Given the description of an element on the screen output the (x, y) to click on. 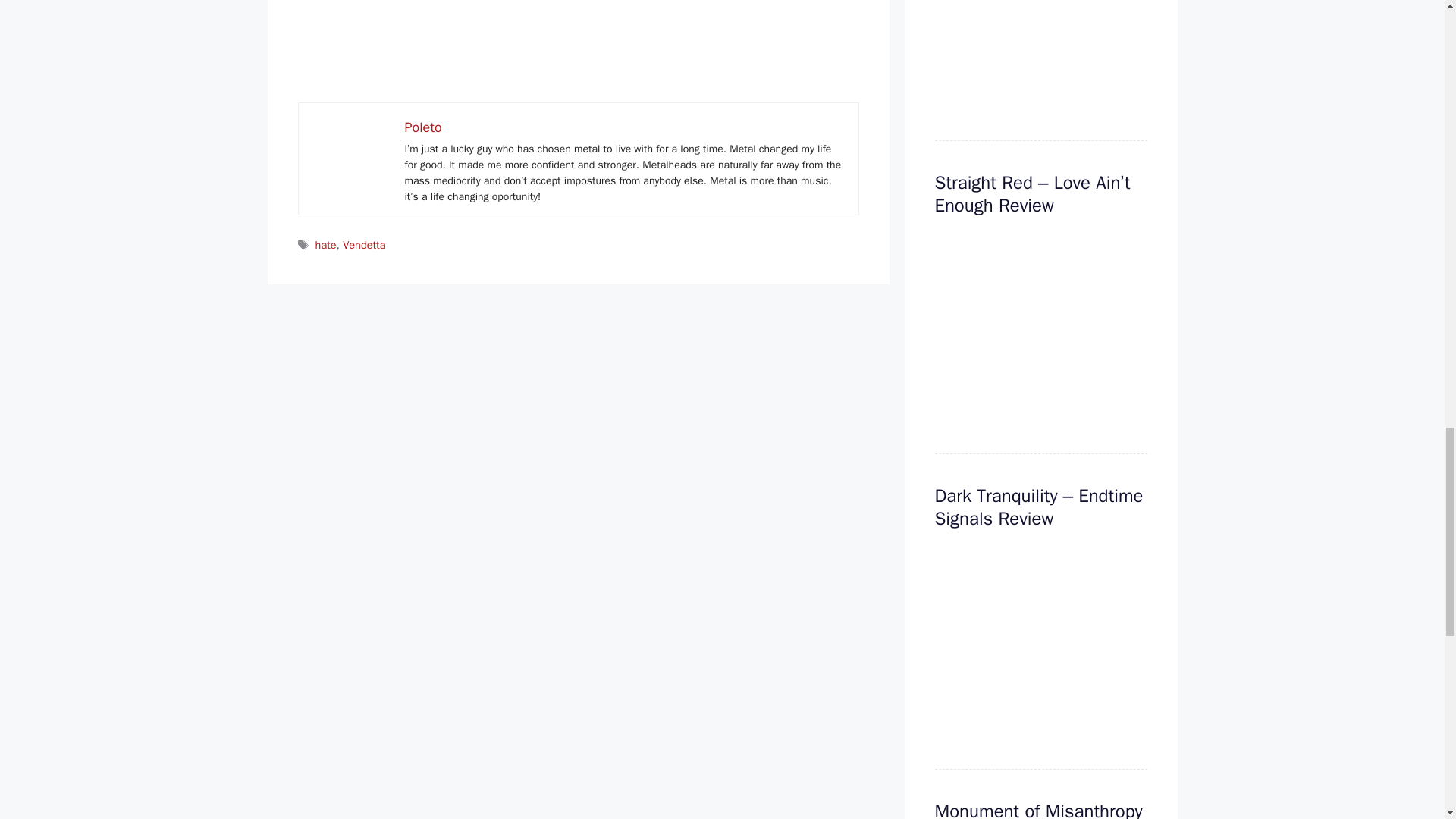
Vendetta (363, 244)
hate (325, 244)
Poleto (423, 126)
